Given the description of an element on the screen output the (x, y) to click on. 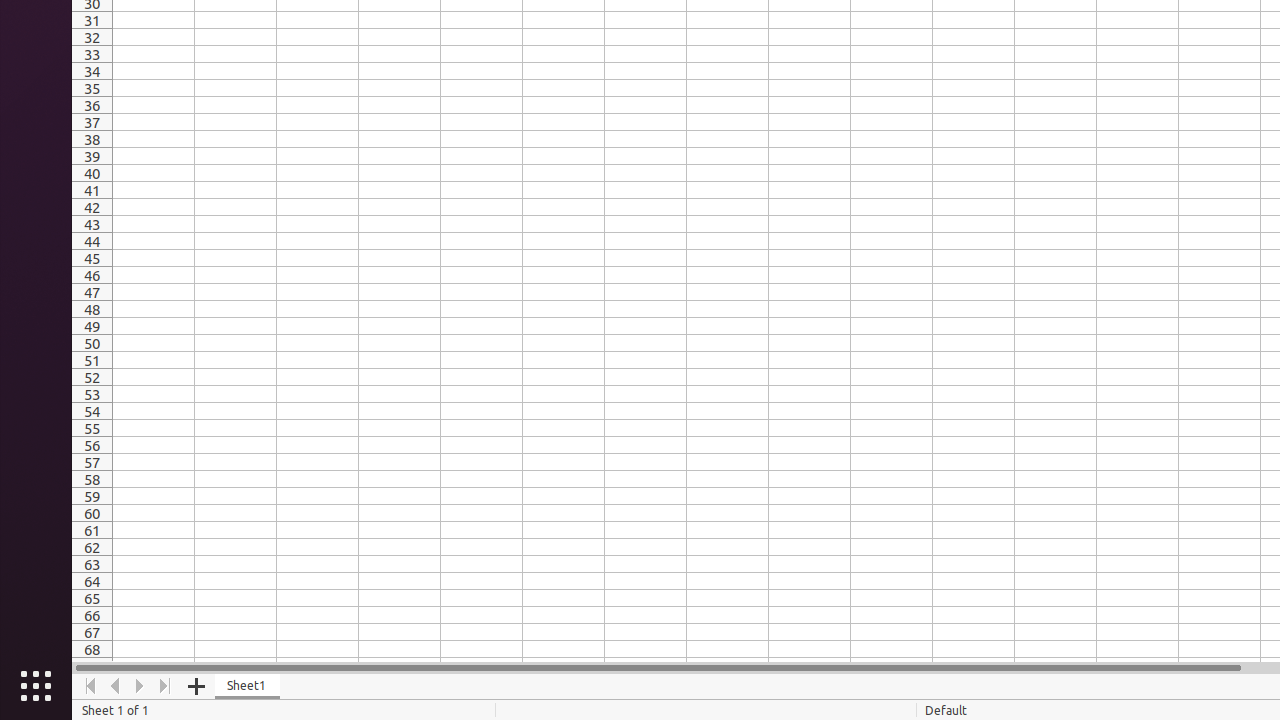
Move Right Element type: push-button (140, 686)
Move Left Element type: push-button (115, 686)
Move To End Element type: push-button (165, 686)
Move To Home Element type: push-button (90, 686)
